Given the description of an element on the screen output the (x, y) to click on. 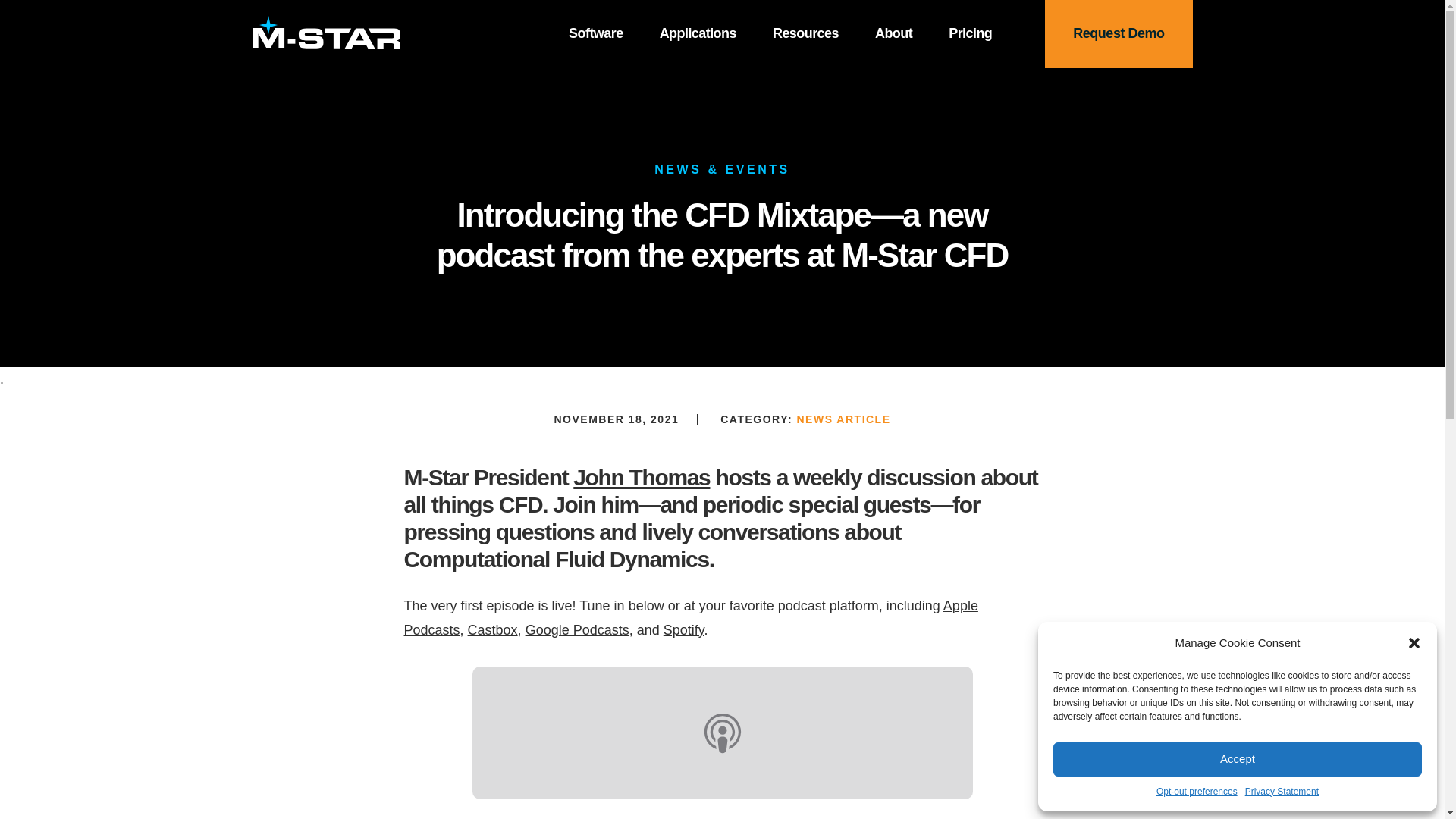
Privacy Statement (1281, 791)
Applications (697, 33)
Accept (1237, 759)
Software (596, 33)
Opt-out preferences (1196, 791)
Resources (805, 33)
